Given the description of an element on the screen output the (x, y) to click on. 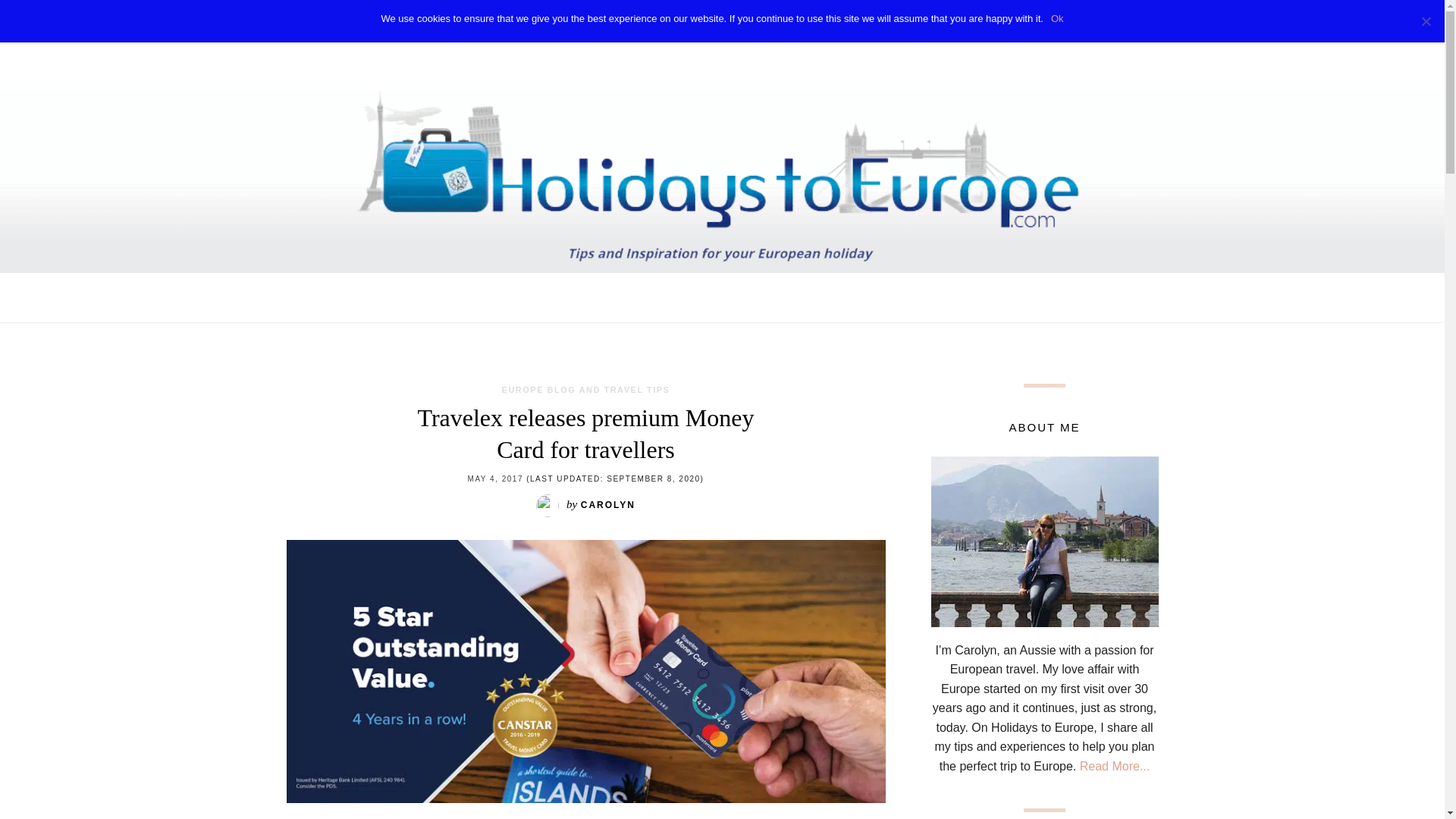
No (1425, 20)
EUROPEAN DESTINATIONS (541, 20)
ABOUT ME (930, 20)
HOME (423, 20)
CONTACT (1011, 20)
RESOURCES (835, 20)
EUROPE TRAVEL BLOG (706, 20)
